Given the description of an element on the screen output the (x, y) to click on. 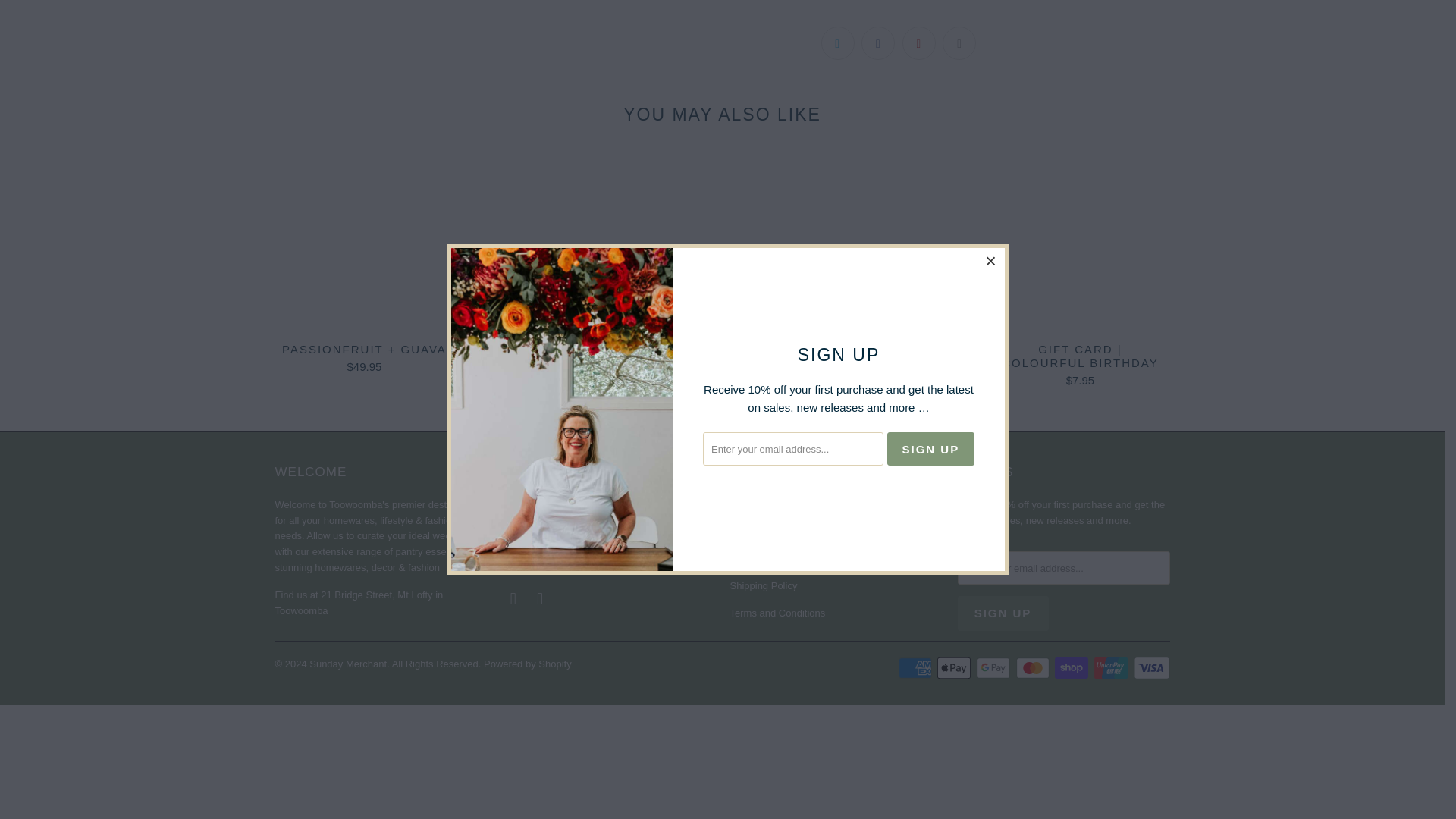
Mastercard (1034, 667)
Visa (1150, 667)
Shop Pay (1072, 667)
Union Pay (1112, 667)
American Express (916, 667)
Apple Pay (955, 667)
Google Pay (994, 667)
